Given the description of an element on the screen output the (x, y) to click on. 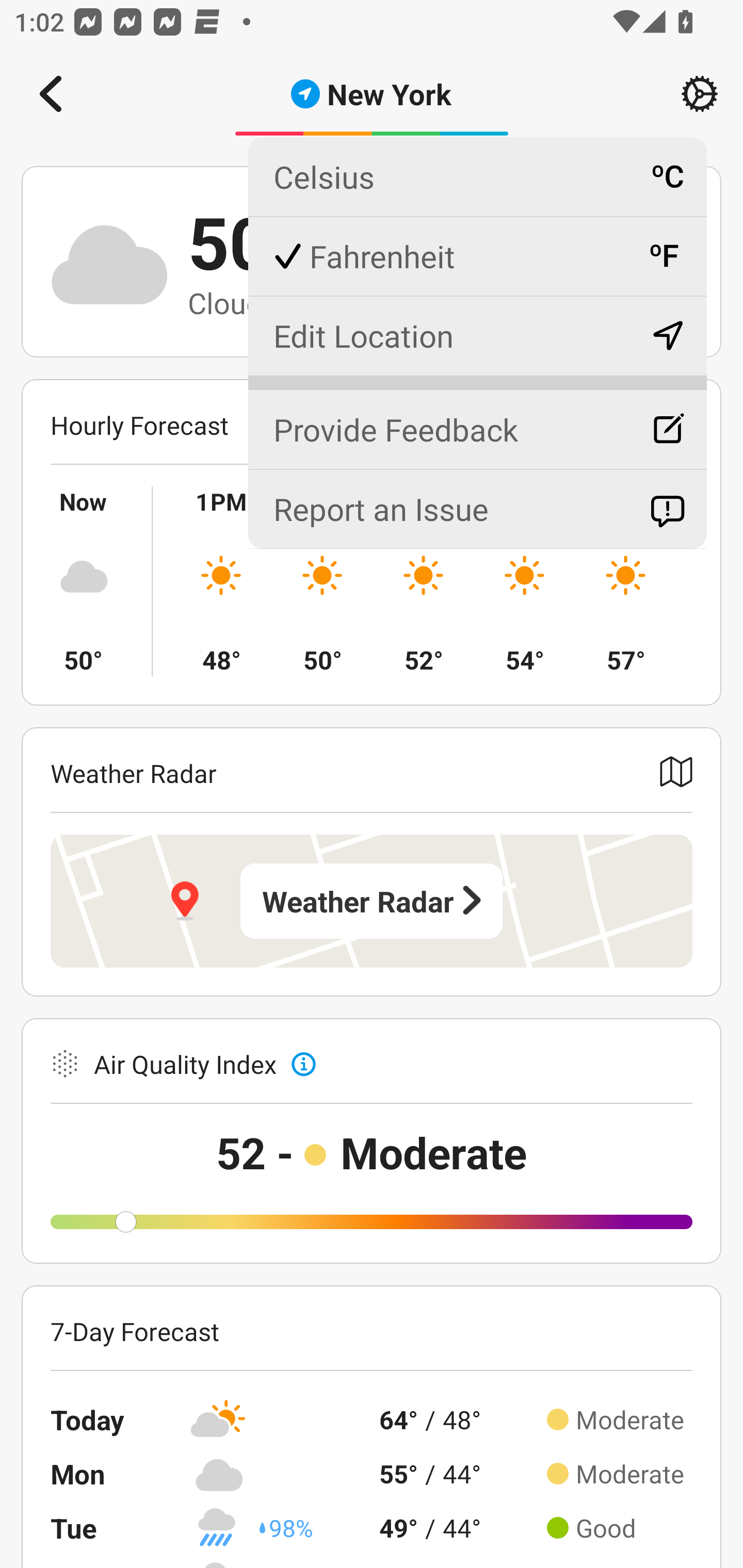
Celsius (477, 176)
Fahrenheit (477, 256)
Edit Location (477, 335)
Provide Feedback (477, 421)
Report an Issue (477, 508)
